Given the description of an element on the screen output the (x, y) to click on. 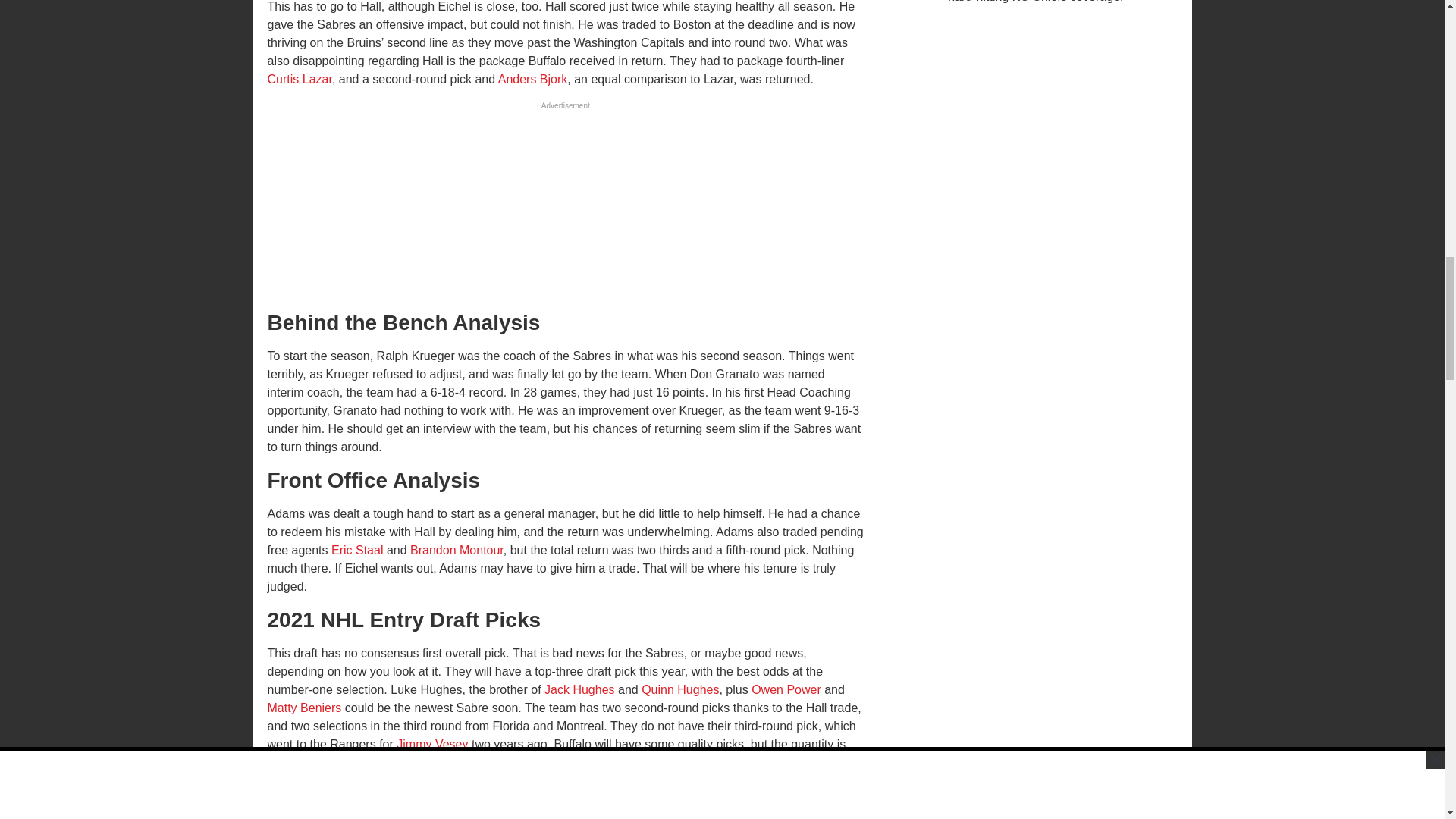
3rd party ad content (564, 208)
